Given the description of an element on the screen output the (x, y) to click on. 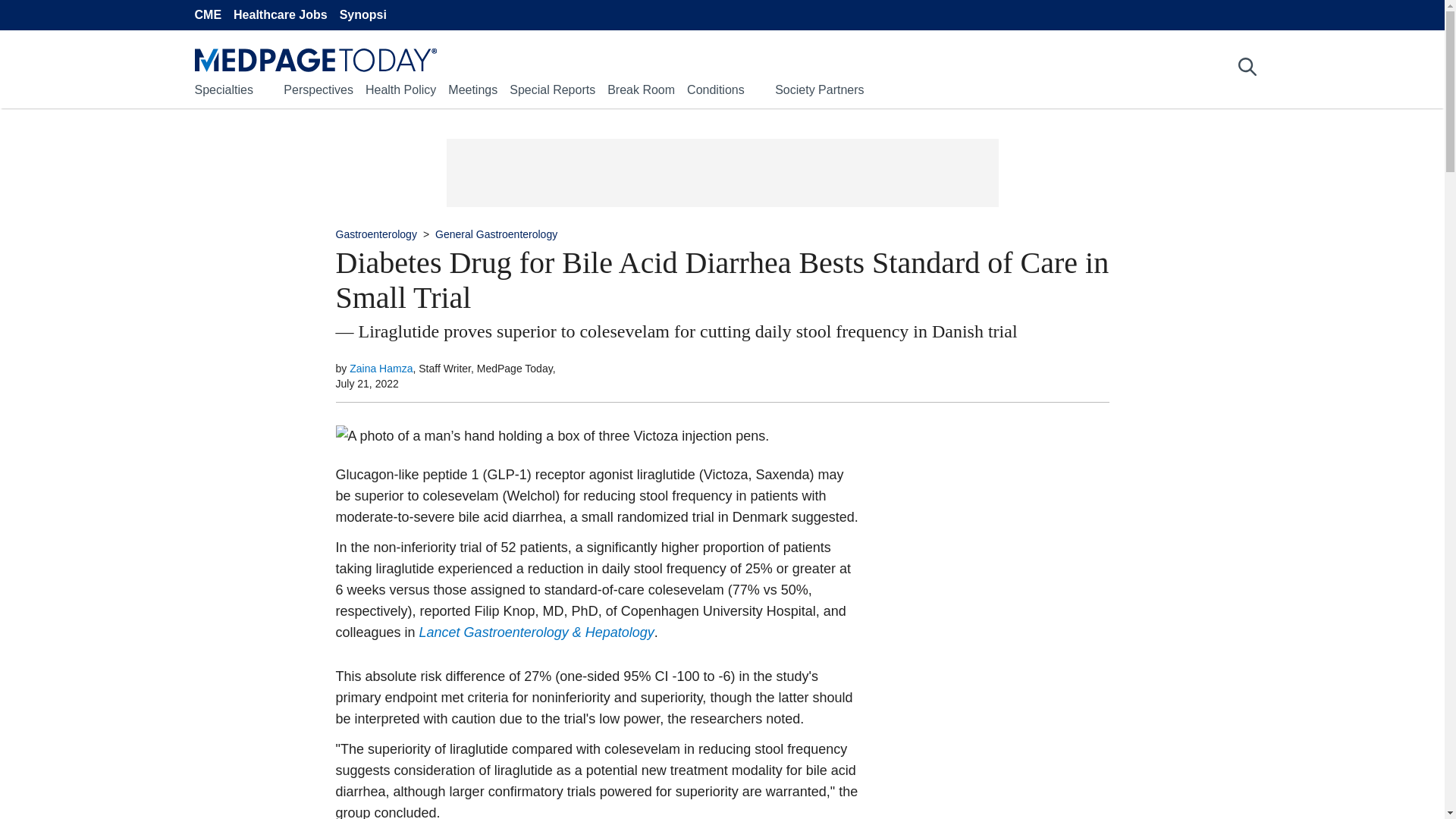
Opens in a new tab or window (536, 631)
Synopsi (363, 15)
CME (207, 15)
Specialties (222, 89)
Healthcare Jobs (279, 15)
